Given the description of an element on the screen output the (x, y) to click on. 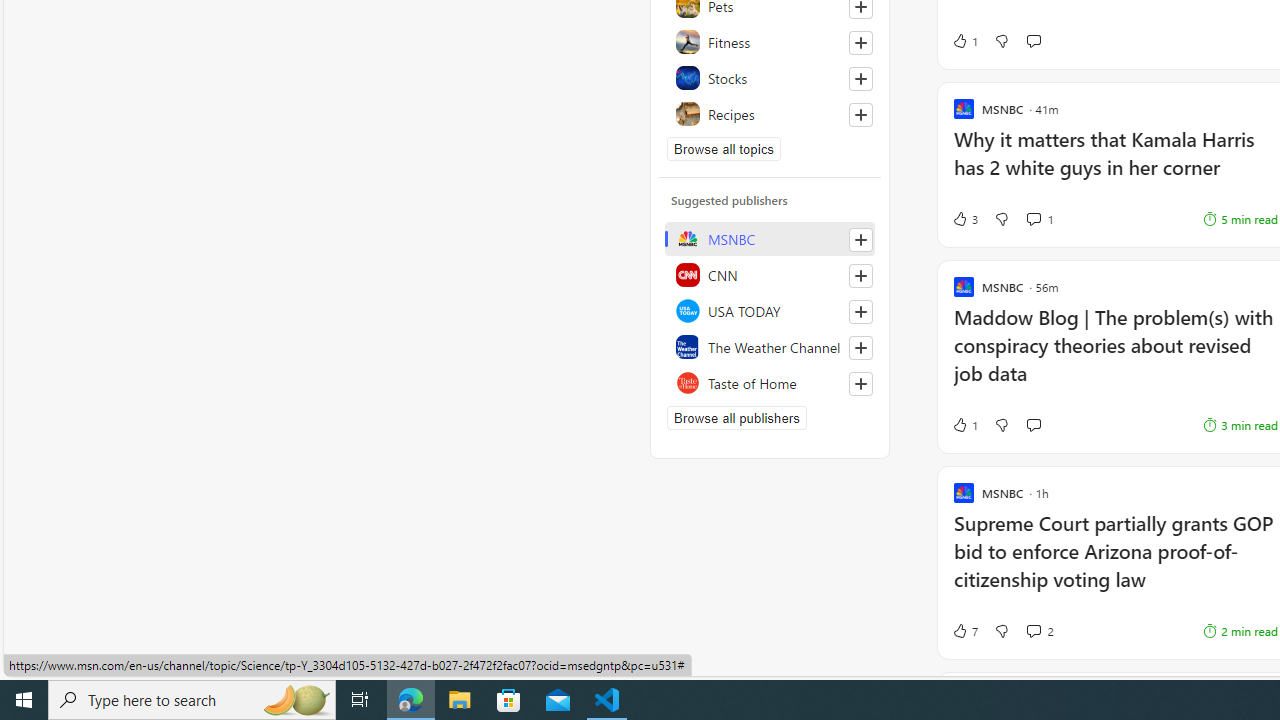
MSNBC (770, 238)
View comments 1 Comment (1033, 218)
7 Like (964, 630)
Fitness (770, 42)
View comments 2 Comment (1033, 630)
Start the conversation (1033, 424)
3 Like (964, 219)
USA TODAY (770, 310)
The Weather Channel (770, 346)
1 Like (964, 425)
Recipes (770, 114)
View comments 1 Comment (1039, 219)
